Given the description of an element on the screen output the (x, y) to click on. 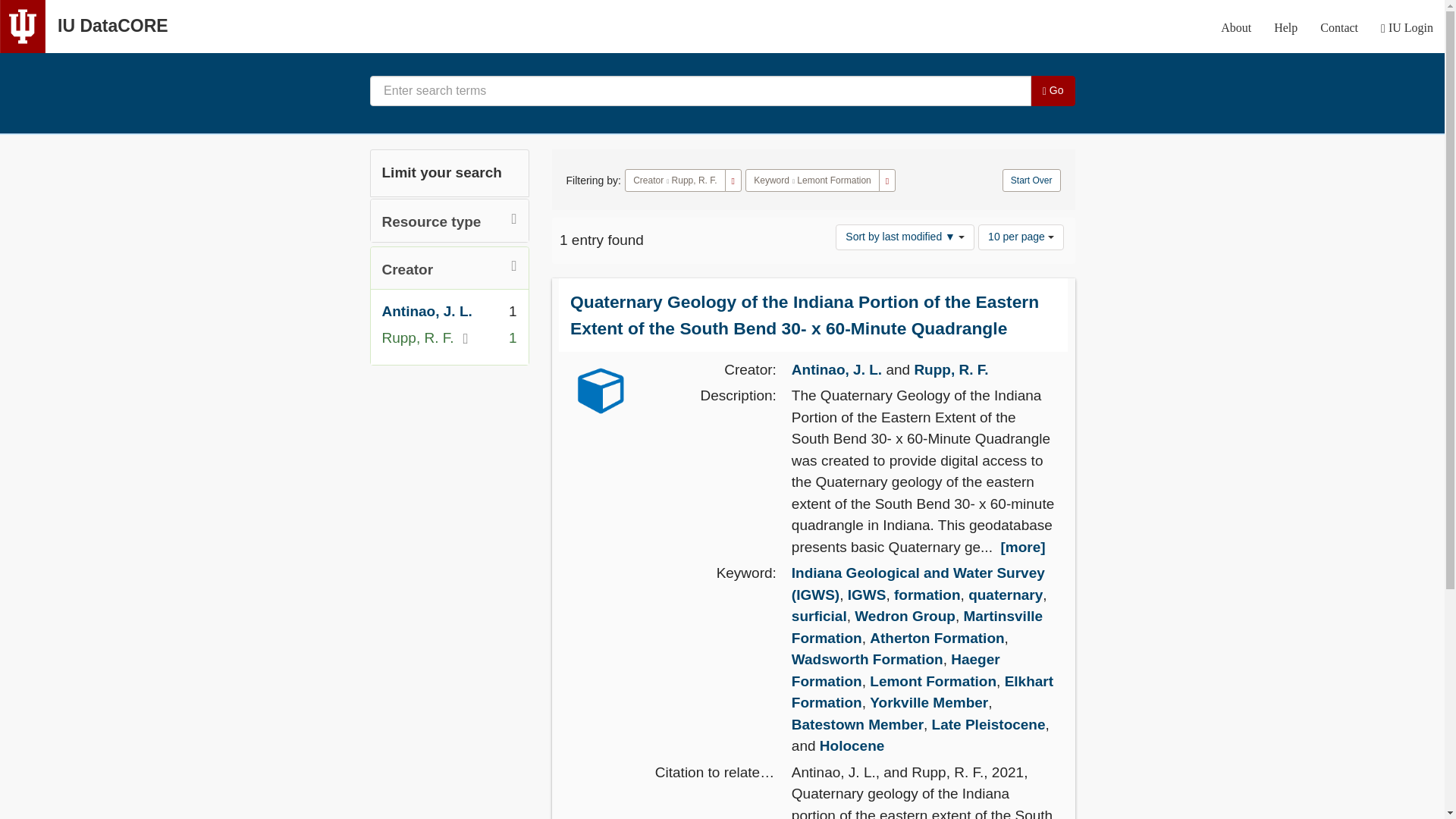
Lemont Formation (833, 180)
Start Over (1032, 179)
Help (1285, 27)
Go (1052, 91)
Lemont Formation (932, 681)
quaternary (1005, 594)
Wedron Group (904, 616)
Wadsworth Formation (867, 659)
Indiana University Logo (22, 26)
IU DataCORE (113, 25)
Atherton Formation (936, 637)
Remove constraint Keyword: Lemont Formation (887, 179)
formation (926, 594)
Rupp, R. F. (951, 369)
